Given the description of an element on the screen output the (x, y) to click on. 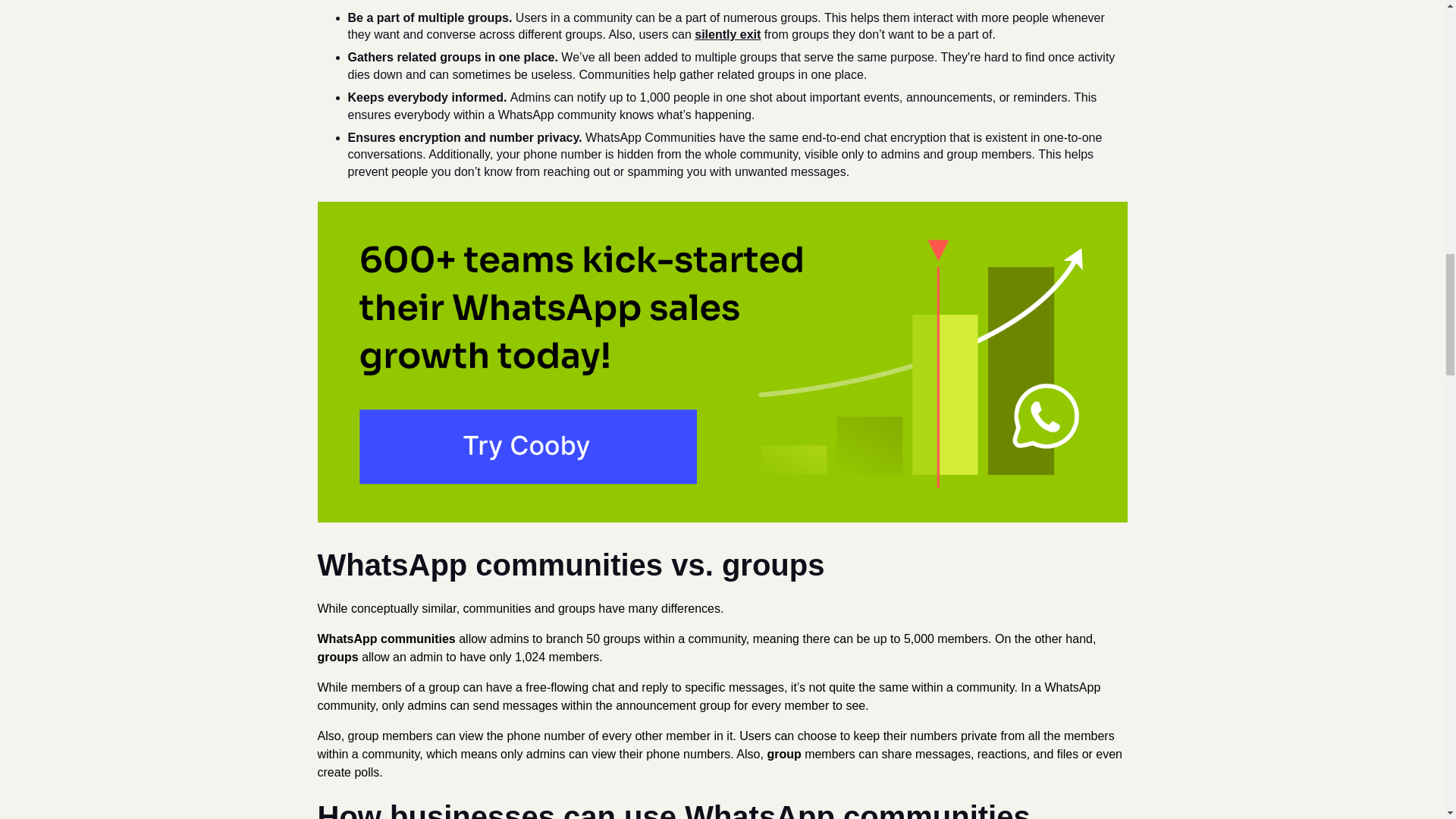
silently exit (727, 33)
